Given the description of an element on the screen output the (x, y) to click on. 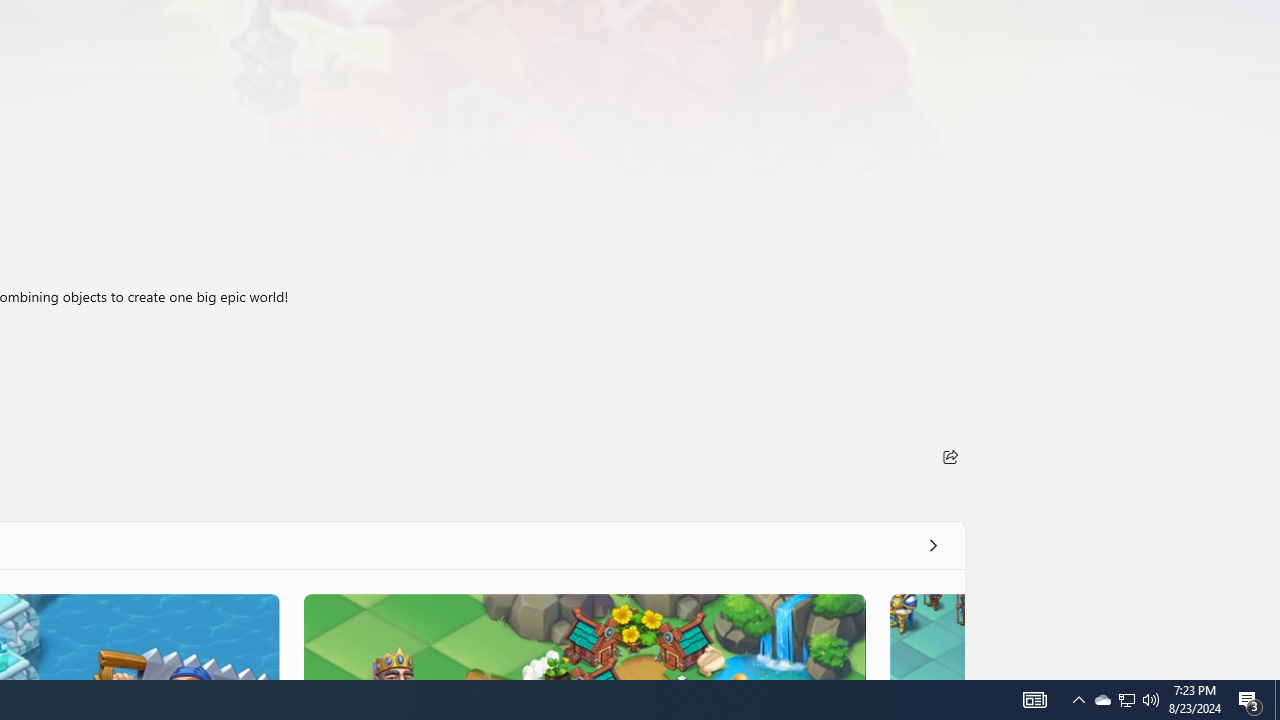
Screenshot 4 (926, 636)
See all (932, 544)
Share (950, 456)
Screenshot 3 (584, 636)
